Given the description of an element on the screen output the (x, y) to click on. 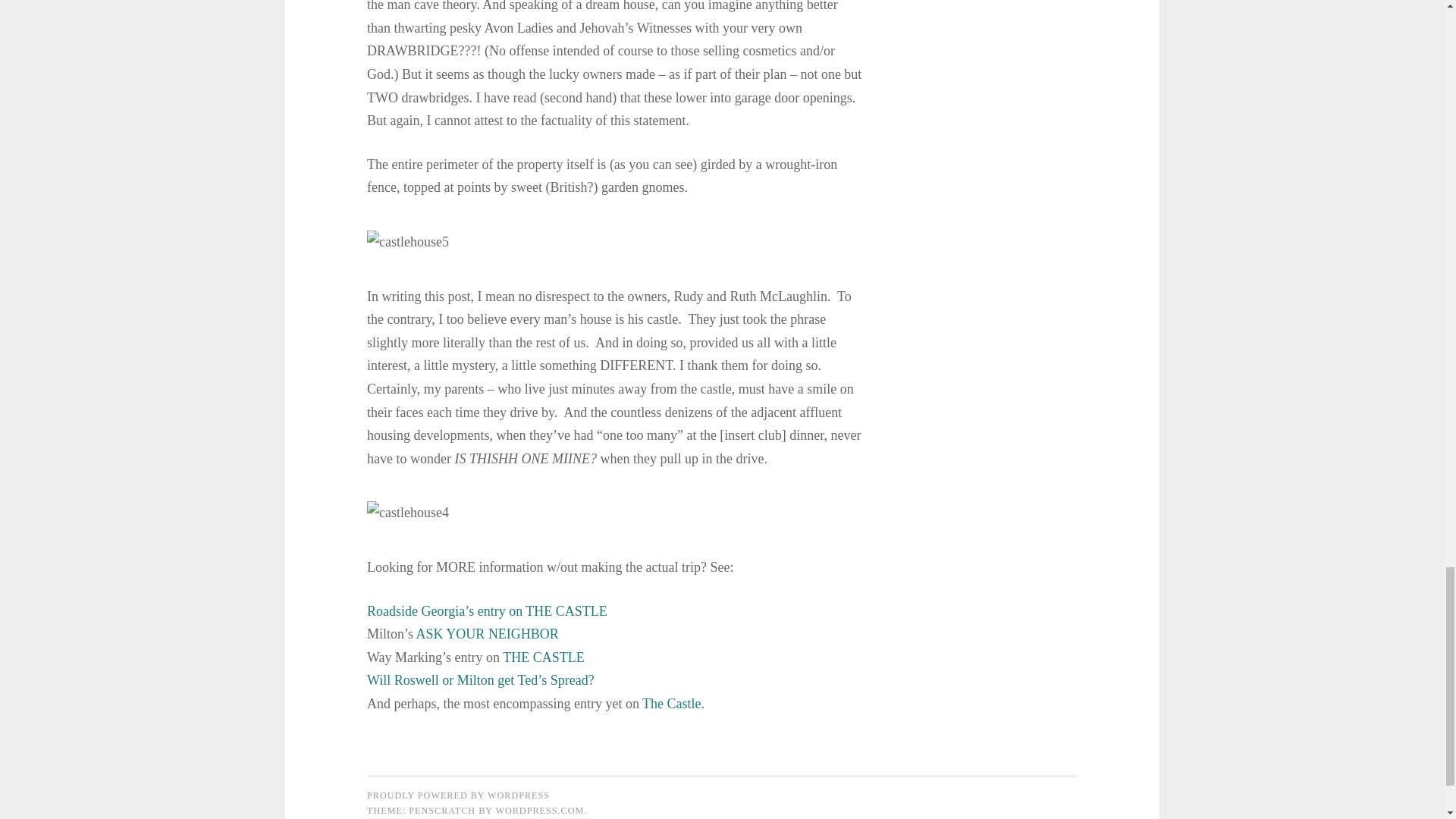
The Castle (671, 703)
WORDPRESS.COM (539, 810)
ASK YOUR NEIGHBOR (487, 633)
THE CASTLE (543, 657)
castlehouse5 (407, 241)
castlehouse4 (407, 512)
PROUDLY POWERED BY WORDPRESS (458, 795)
